Given the description of an element on the screen output the (x, y) to click on. 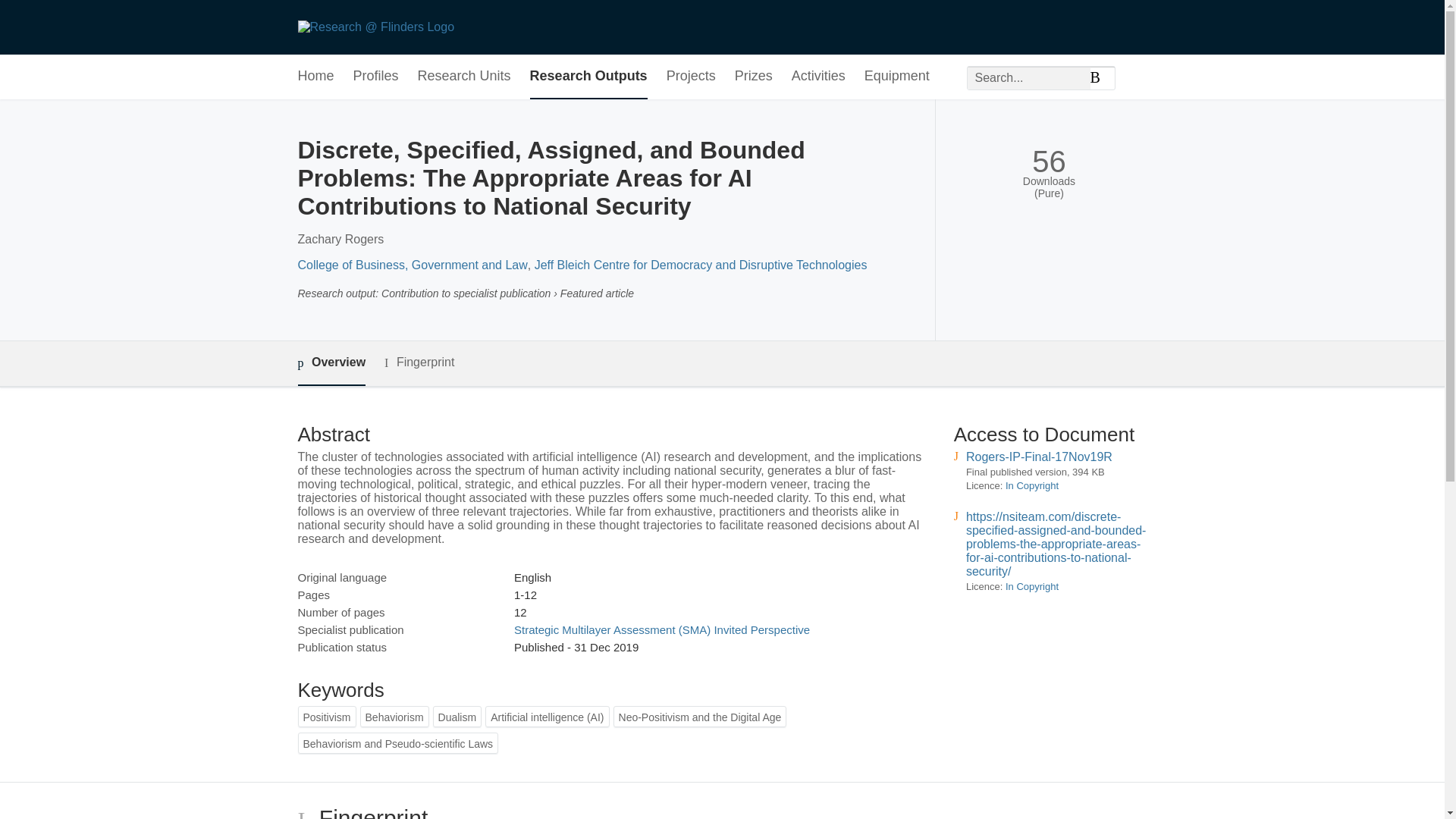
Equipment (897, 76)
College of Business, Government and Law (412, 264)
Research Units (464, 76)
Projects (691, 76)
In Copyright (1032, 586)
In Copyright (1032, 485)
Fingerprint (419, 362)
Activities (818, 76)
Overview (331, 363)
